Given the description of an element on the screen output the (x, y) to click on. 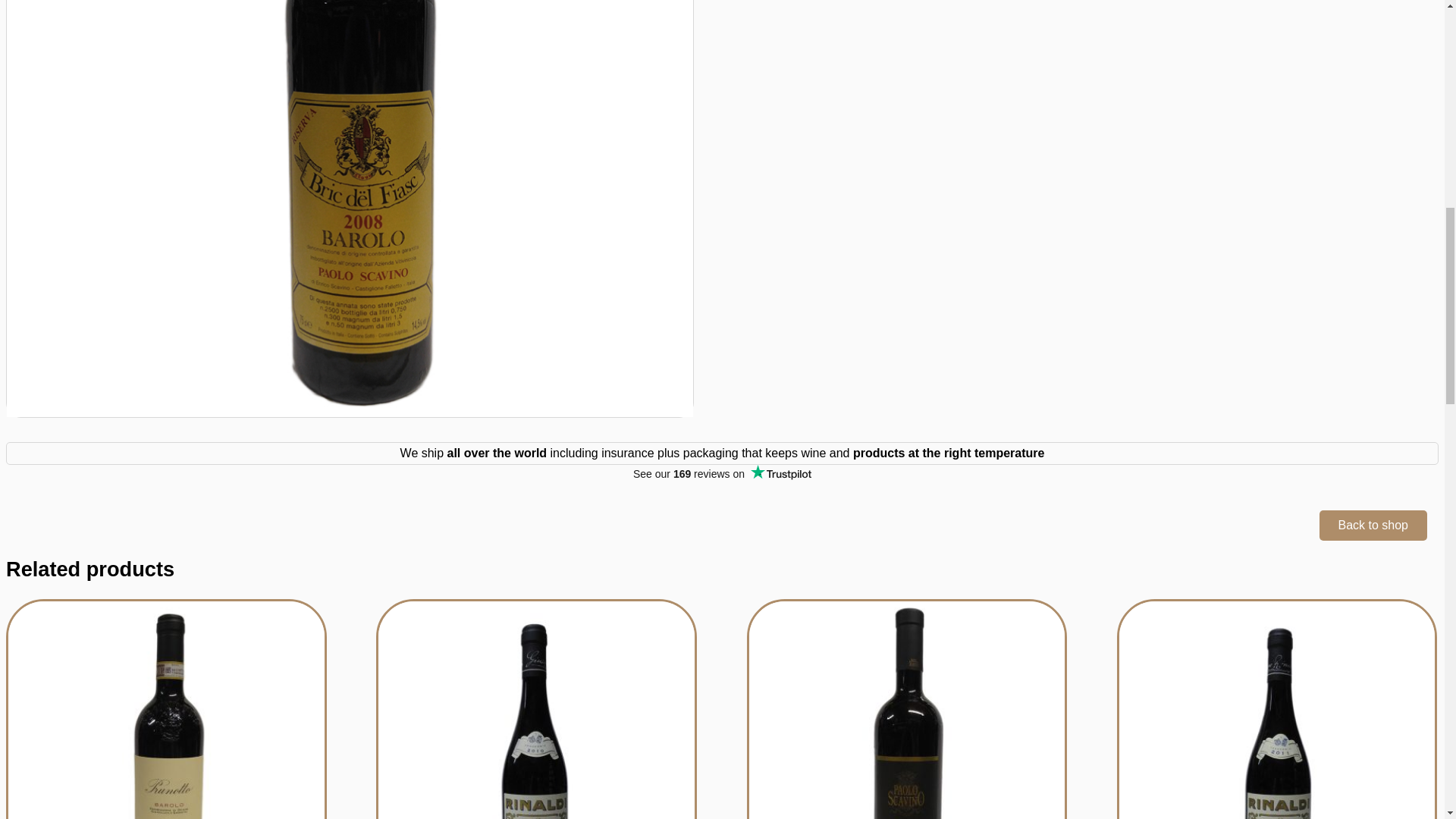
Back to shop (1373, 525)
Back to shop (1373, 525)
Barolo Vendemmia 2010 Prunotto (163, 708)
